Given the description of an element on the screen output the (x, y) to click on. 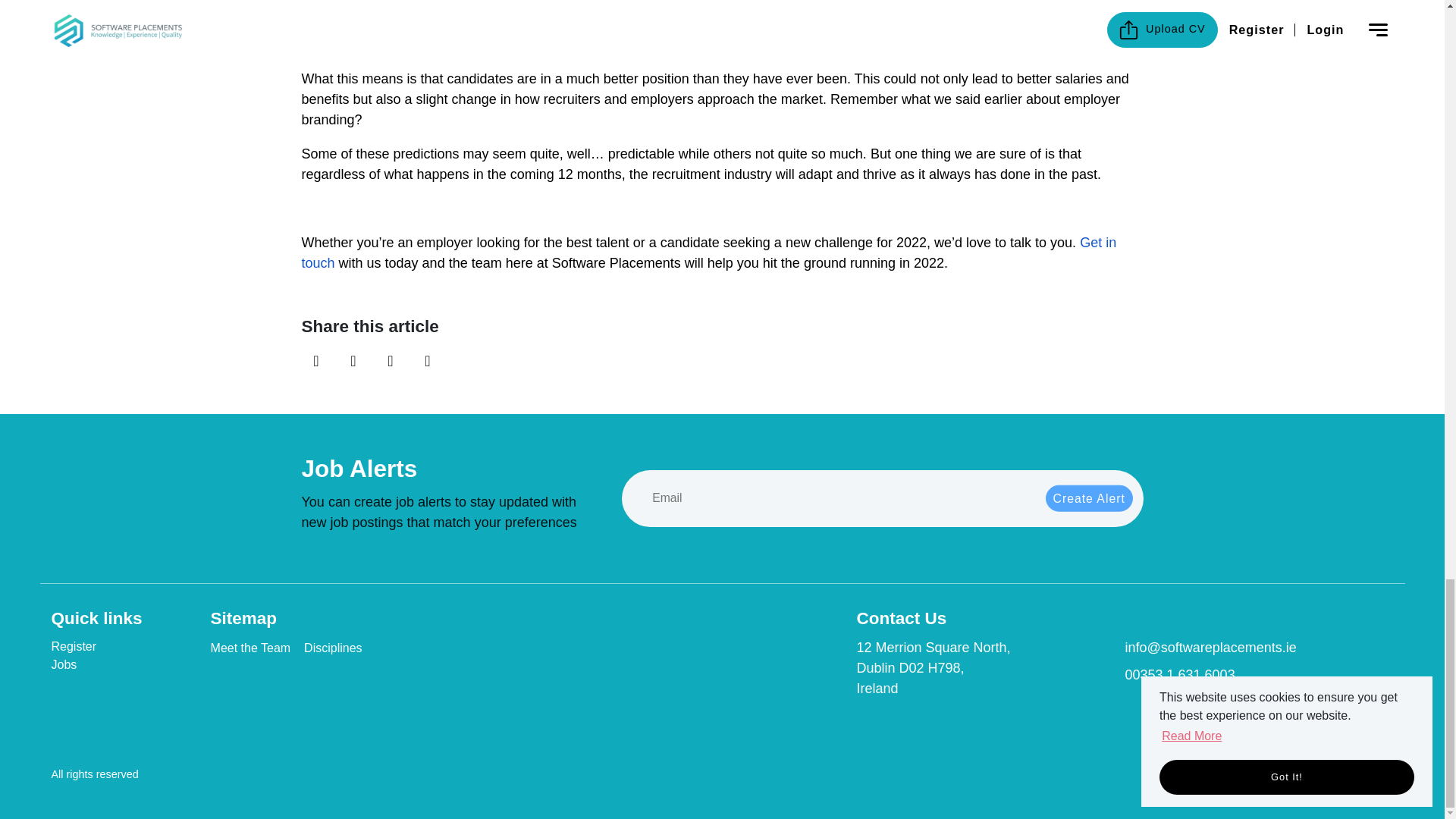
Register (96, 646)
Facebook (352, 360)
Get in touch (708, 253)
Meet the Team (251, 647)
Jobs (96, 664)
Twitter (390, 360)
a million more job openings (1043, 23)
Email (427, 360)
Create Alert (1088, 498)
LinkedIn (316, 360)
Disciplines (344, 647)
